Given the description of an element on the screen output the (x, y) to click on. 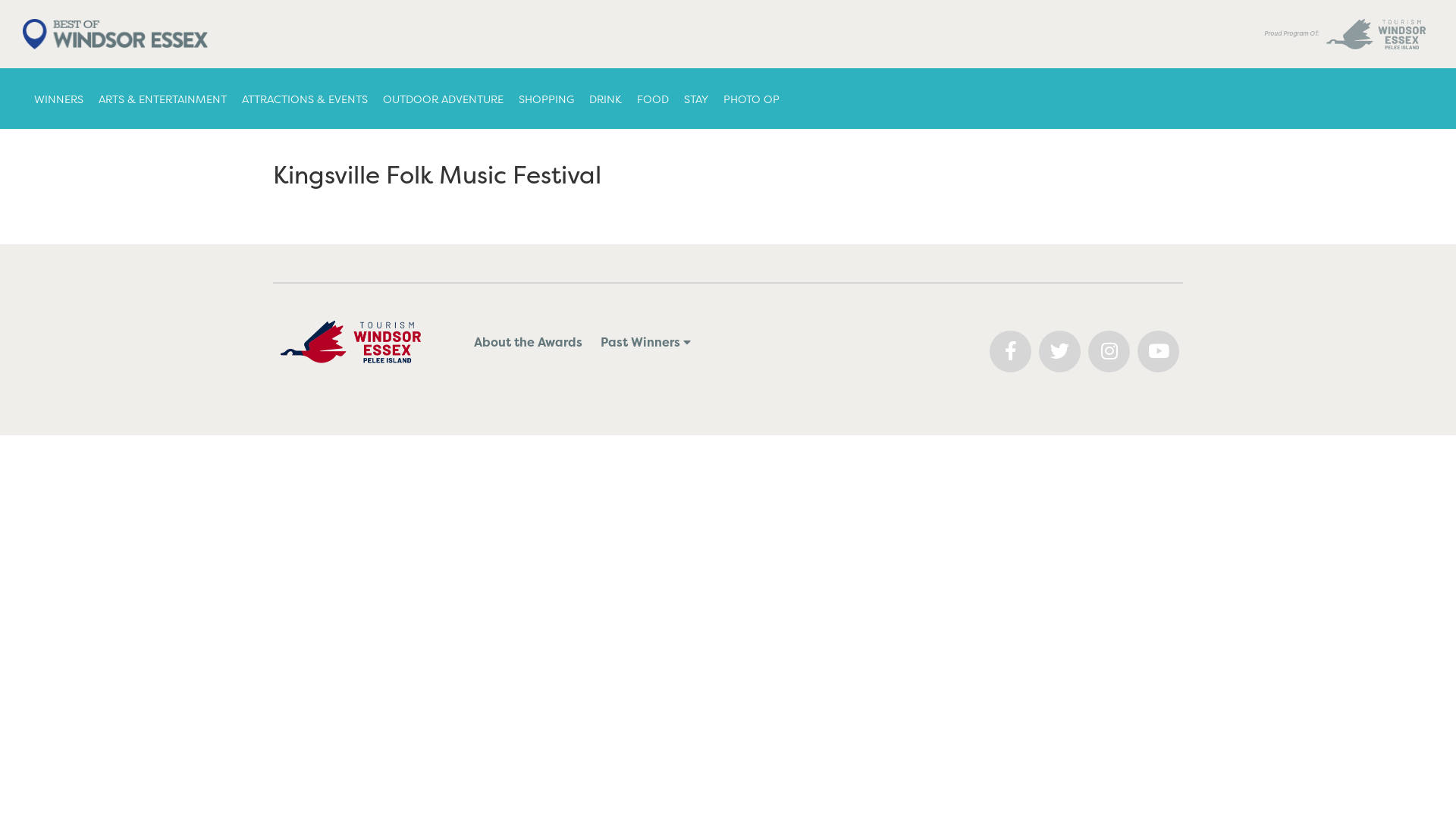
PHOTO OP Element type: text (747, 98)
DRINK Element type: text (601, 98)
FOOD Element type: text (648, 98)
About the Awards  Element type: text (529, 341)
ARTS & ENTERTAINMENT Element type: text (158, 98)
SHOPPING Element type: text (542, 98)
ATTRACTIONS & EVENTS Element type: text (300, 98)
WINNERS Element type: text (54, 98)
STAY Element type: text (692, 98)
OUTDOOR ADVENTURE Element type: text (439, 98)
